Given the description of an element on the screen output the (x, y) to click on. 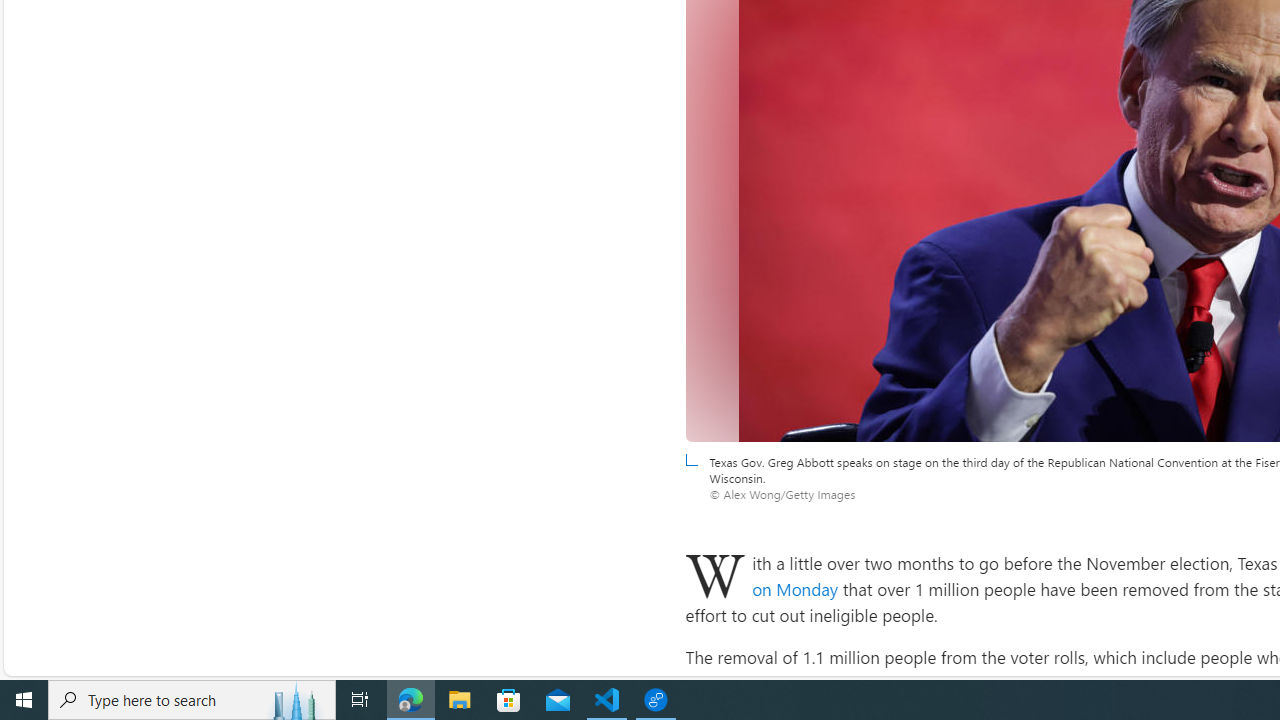
Senate (1227, 682)
